Given the description of an element on the screen output the (x, y) to click on. 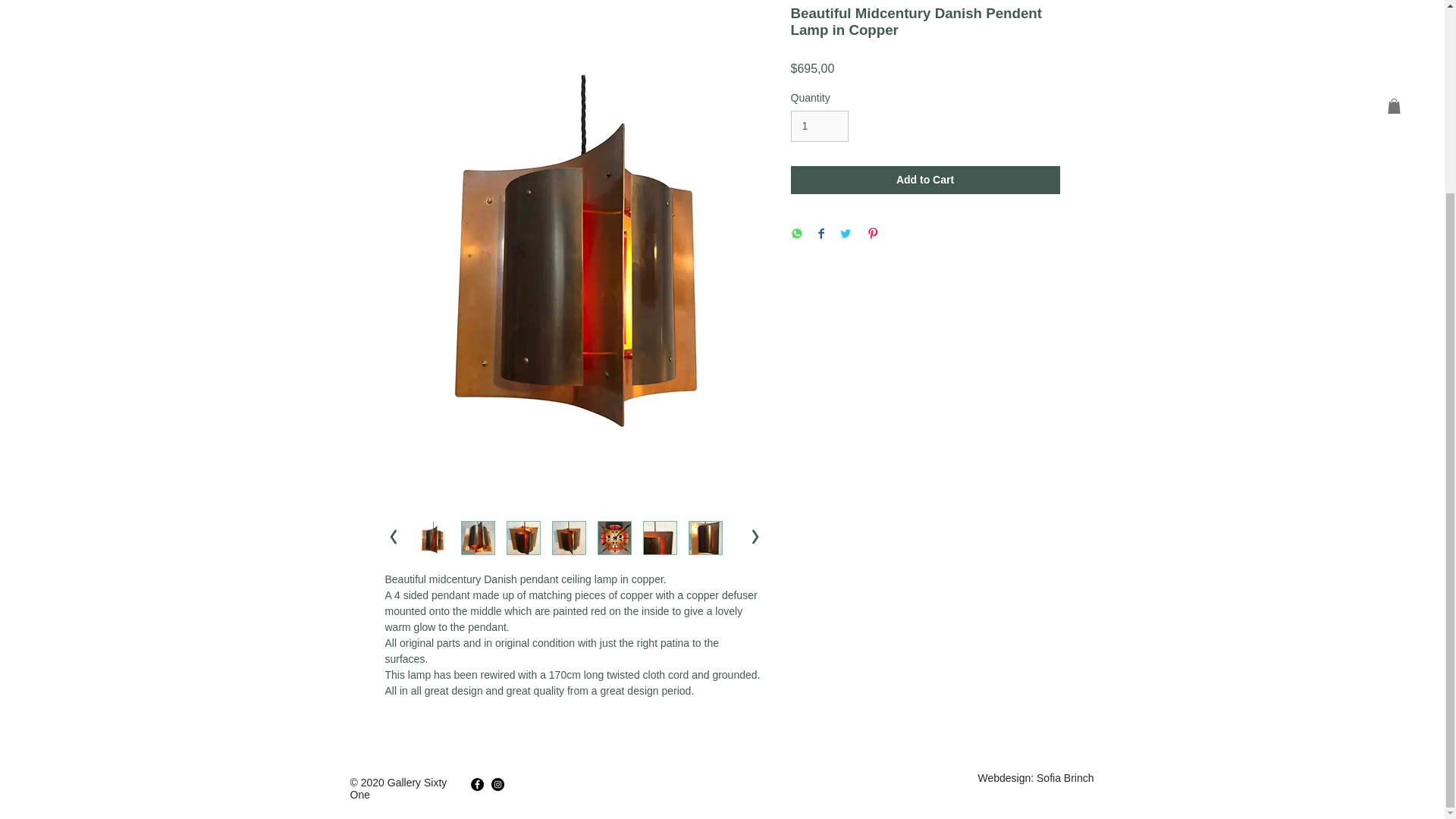
1 (818, 125)
Webdesign: Sofia Brinch (1034, 777)
Add to Cart (924, 179)
